Given the description of an element on the screen output the (x, y) to click on. 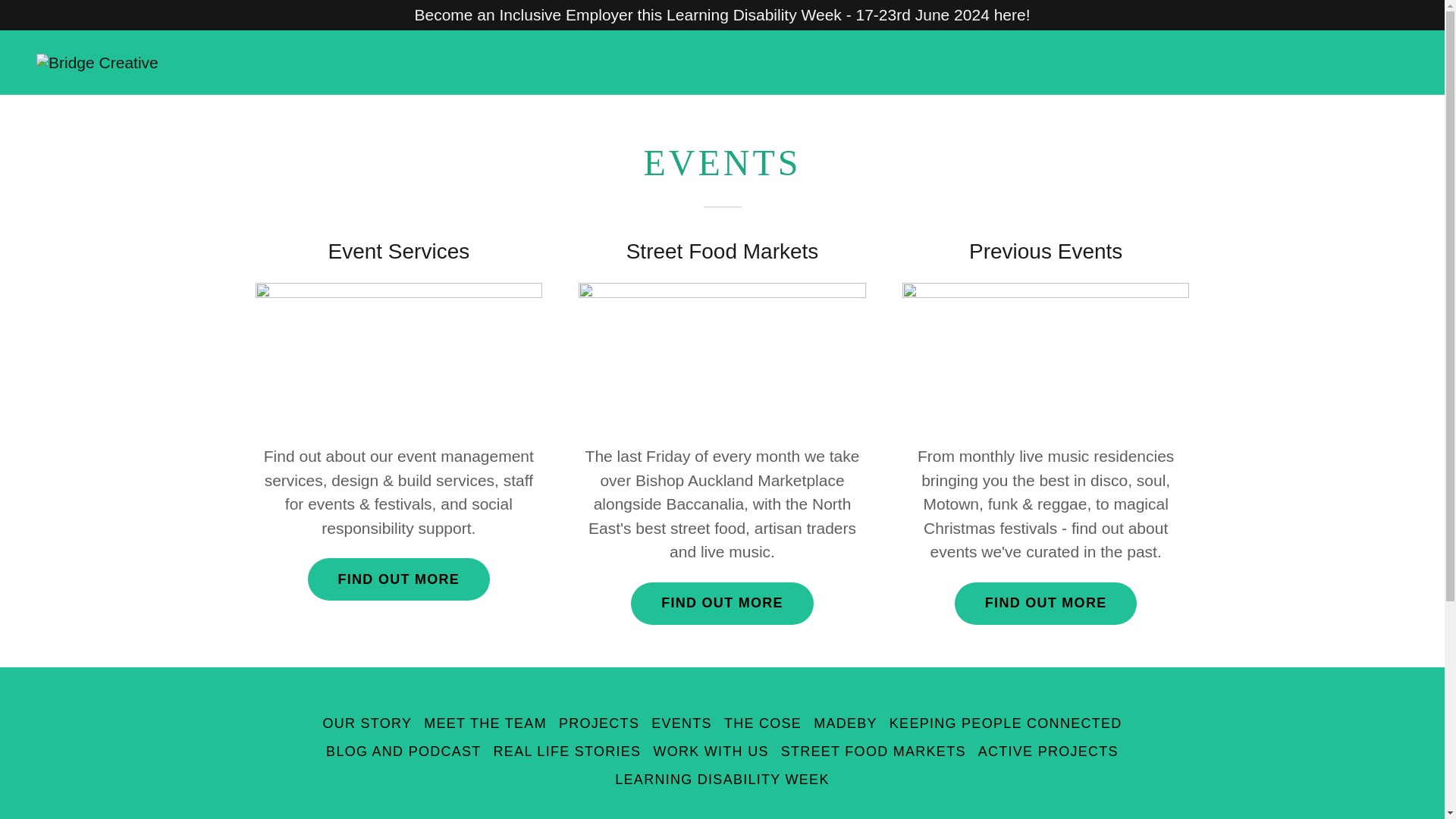
Bridge Creative (97, 60)
FIND OUT MORE (1046, 603)
MEET THE TEAM (485, 723)
OUR STORY (366, 723)
FIND OUT MORE (721, 603)
FIND OUT MORE (398, 578)
